Given the description of an element on the screen output the (x, y) to click on. 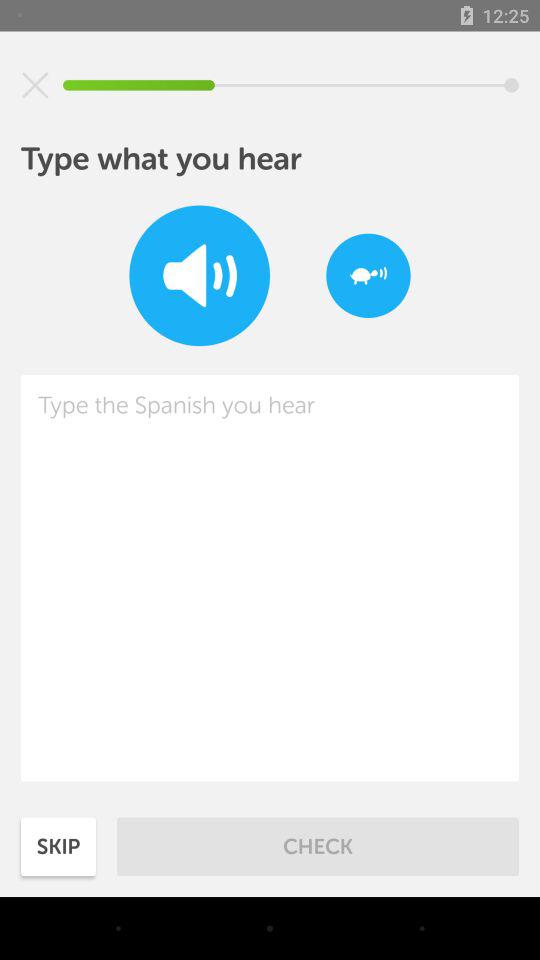
speak slower (368, 275)
